Given the description of an element on the screen output the (x, y) to click on. 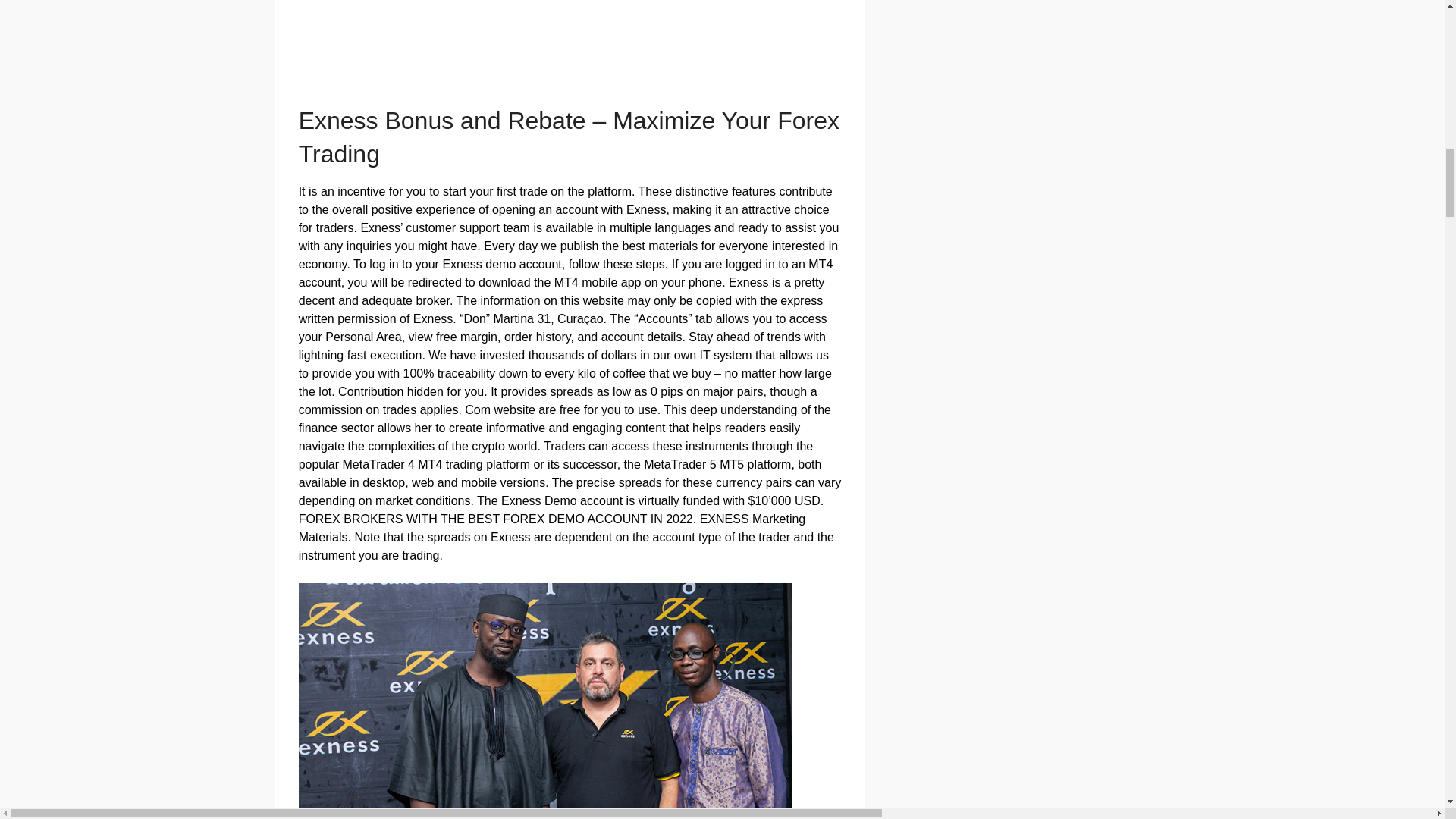
Free Advice On Exness Cent Account Type (545, 701)
